Given the description of an element on the screen output the (x, y) to click on. 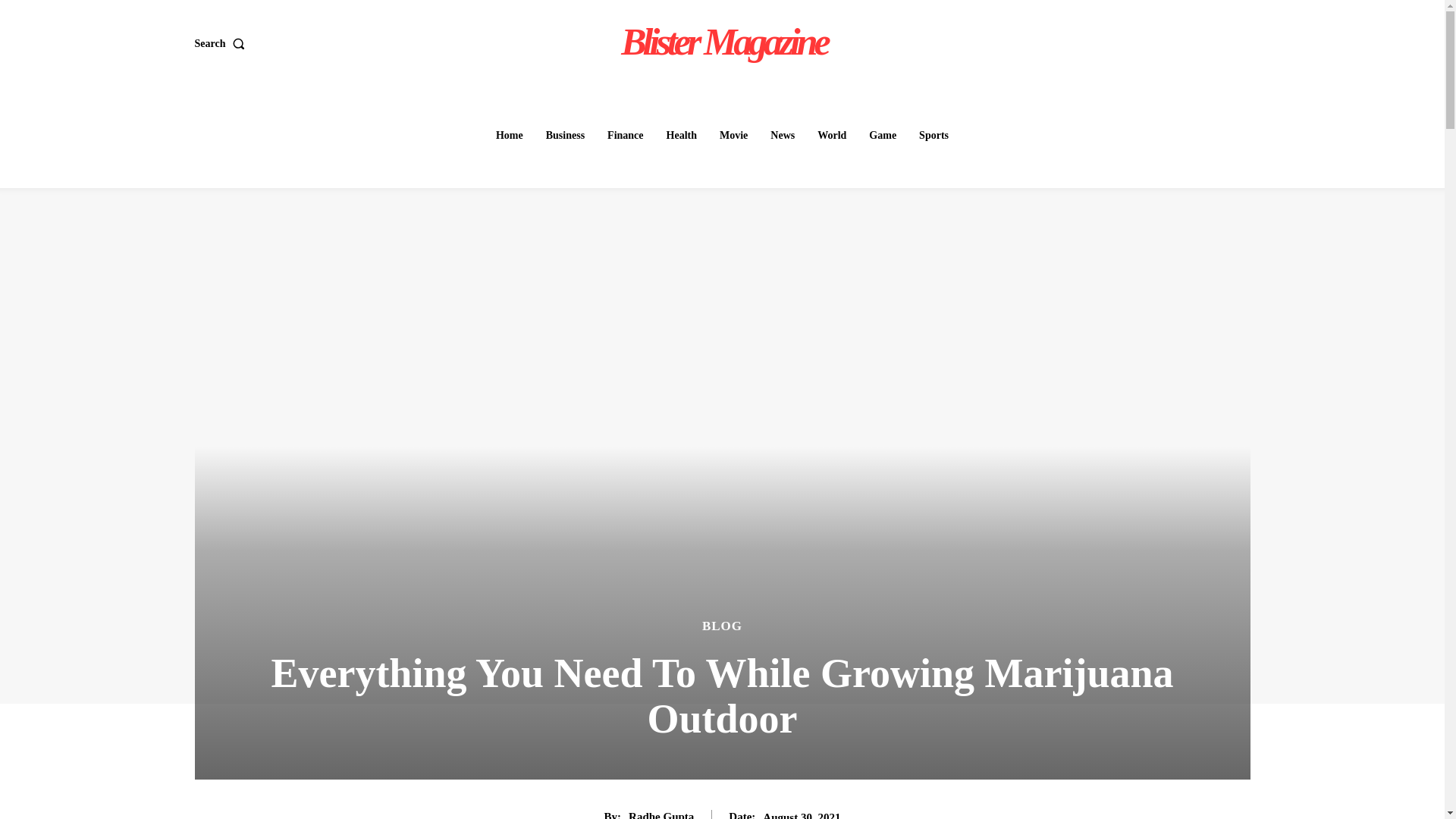
News (782, 135)
Finance (624, 135)
Business (565, 135)
World (831, 135)
Radhe Gupta (661, 814)
BLOG (721, 625)
Blister Magazine (724, 41)
Home (509, 135)
Sports (933, 135)
Search (221, 42)
